Given the description of an element on the screen output the (x, y) to click on. 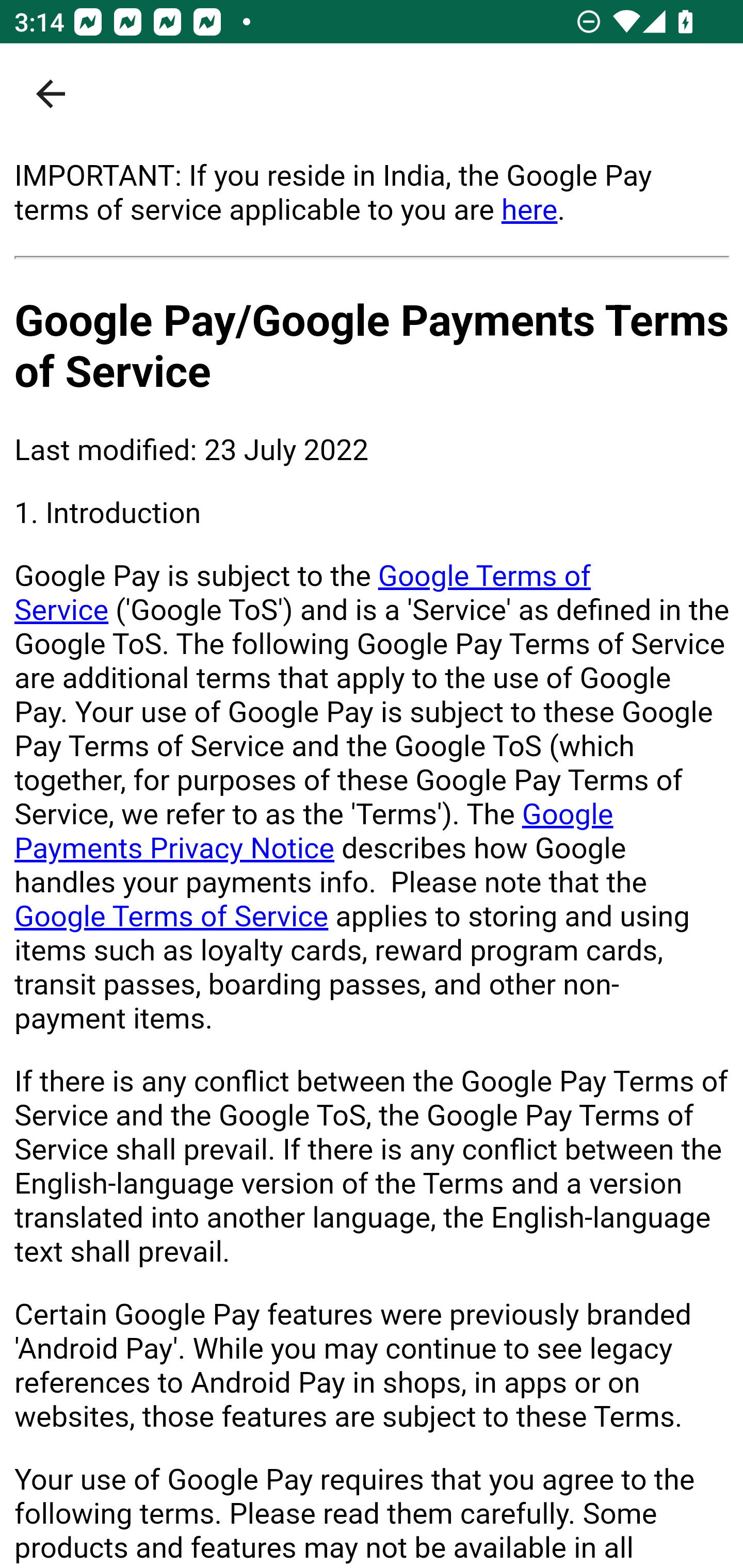
Navigate up (50, 93)
here (528, 209)
Google Terms of Service (303, 593)
Google Payments Privacy Notice (313, 831)
Google Terms of Service (171, 916)
